Given the description of an element on the screen output the (x, y) to click on. 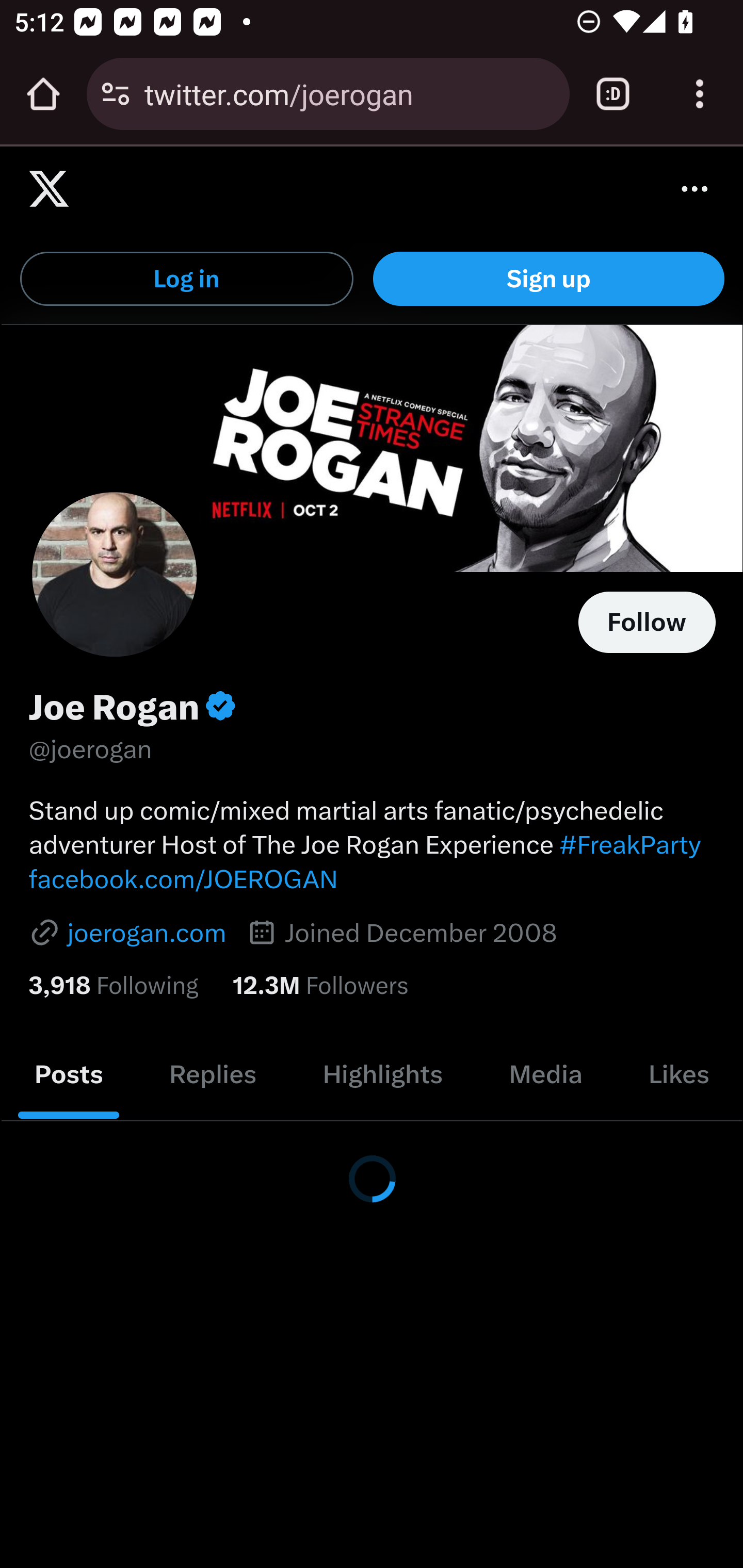
Open the home page (43, 93)
Connection is secure (115, 93)
Switch or close tabs (612, 93)
Customize and control Google Chrome (699, 93)
twitter.com/joerogan (349, 92)
Follow @joerogan (647, 621)
Provides details about verified accounts. (220, 705)
#FreakParty (629, 843)
facebook.com/JOEROGAN (182, 878)
joerogan.com (126, 932)
3,918 Following 3,918   Following (112, 985)
12.3M Followers 12.3M   Followers (320, 985)
Posts (68, 1074)
Replies (212, 1074)
Highlights (383, 1074)
Media (544, 1074)
Likes (678, 1074)
